Given the description of an element on the screen output the (x, y) to click on. 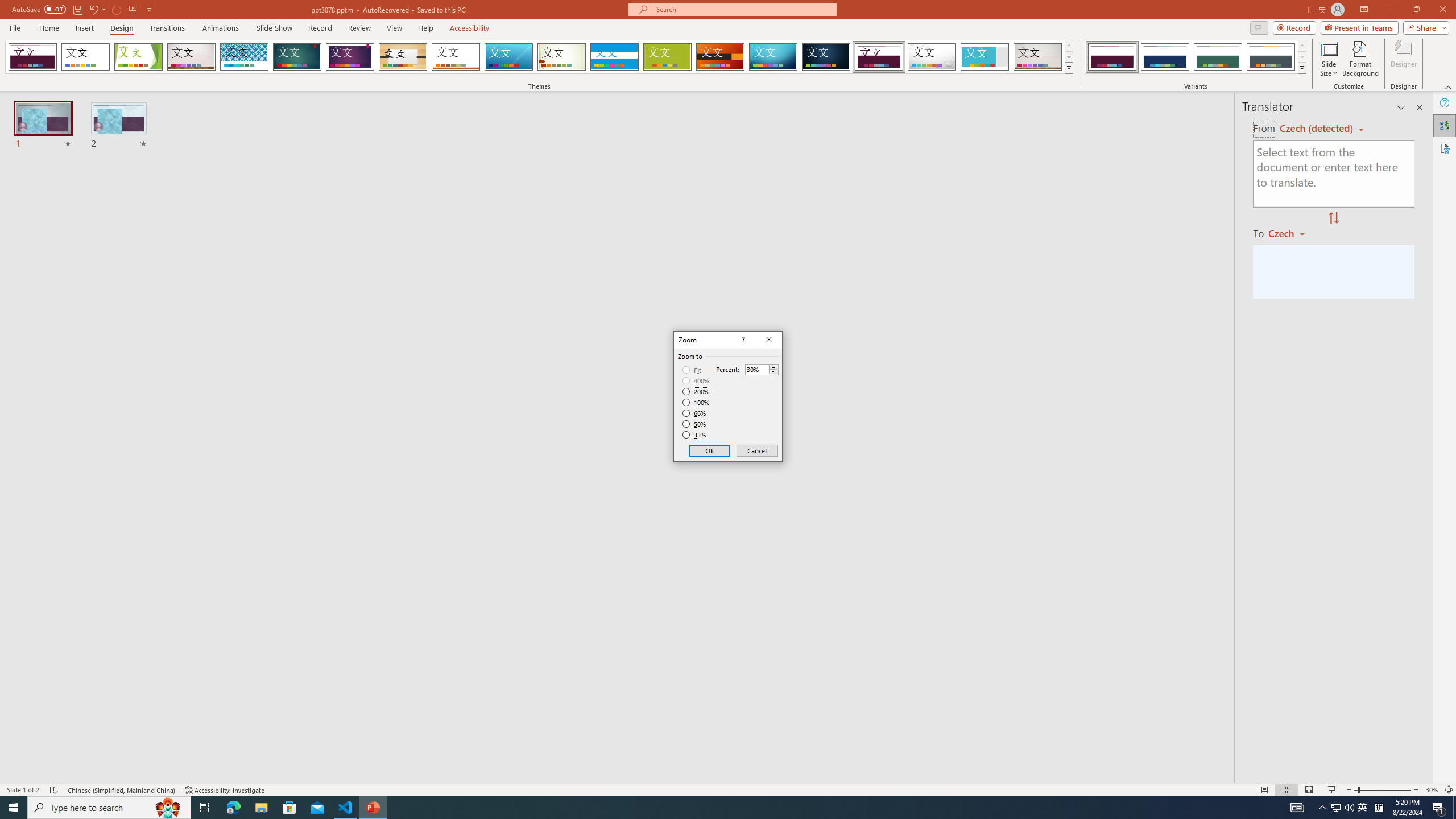
Context help (742, 339)
Dividend Variant 2 (1164, 56)
